Given the description of an element on the screen output the (x, y) to click on. 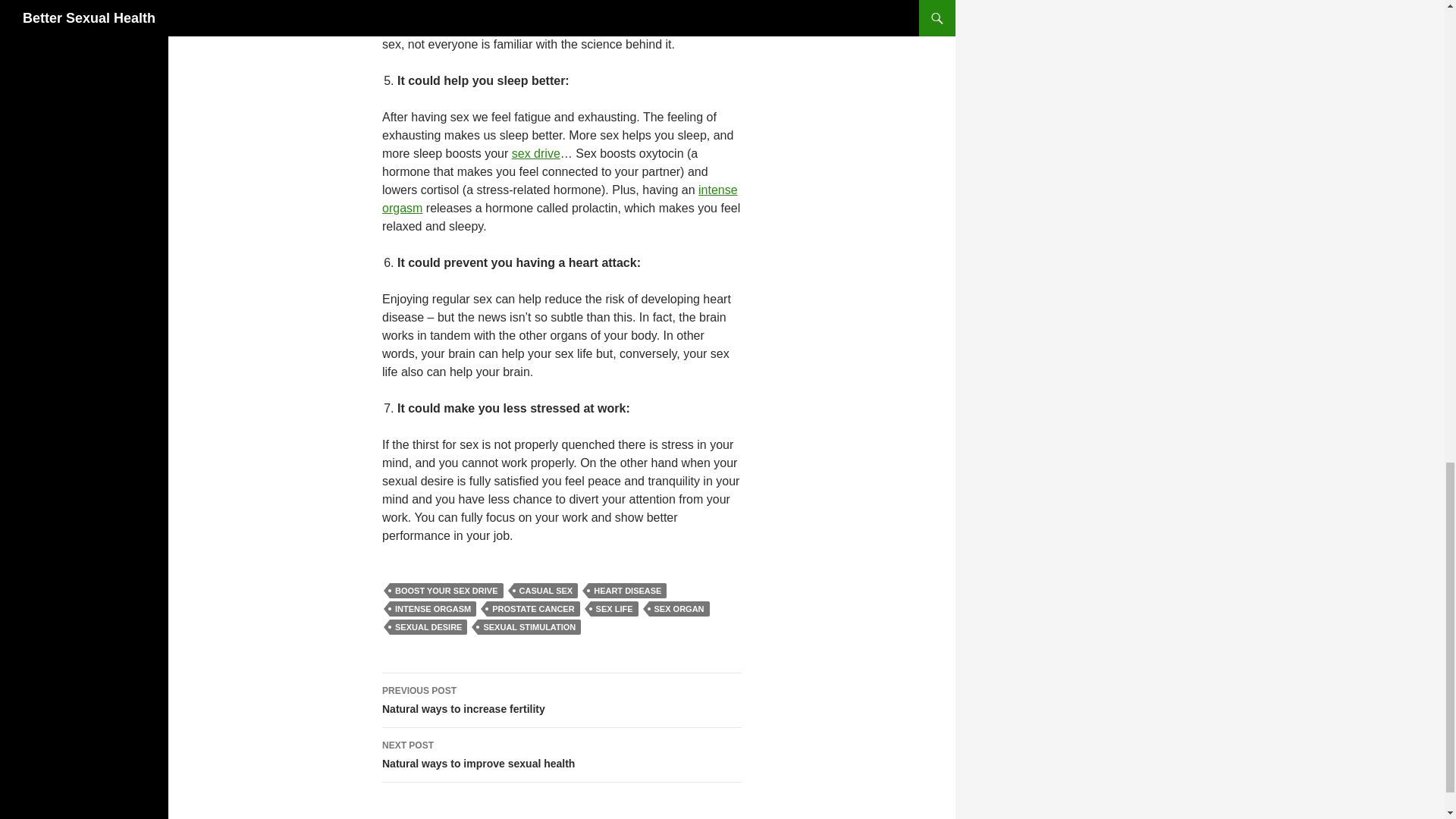
HEART DISEASE (561, 700)
SEXUAL STIMULATION (627, 590)
INTENSE ORGASM (561, 755)
PROSTATE CANCER (528, 626)
SEX LIFE (433, 608)
SEXUAL DESIRE (532, 608)
intense orgasm (615, 608)
SEX ORGAN (428, 626)
